Given the description of an element on the screen output the (x, y) to click on. 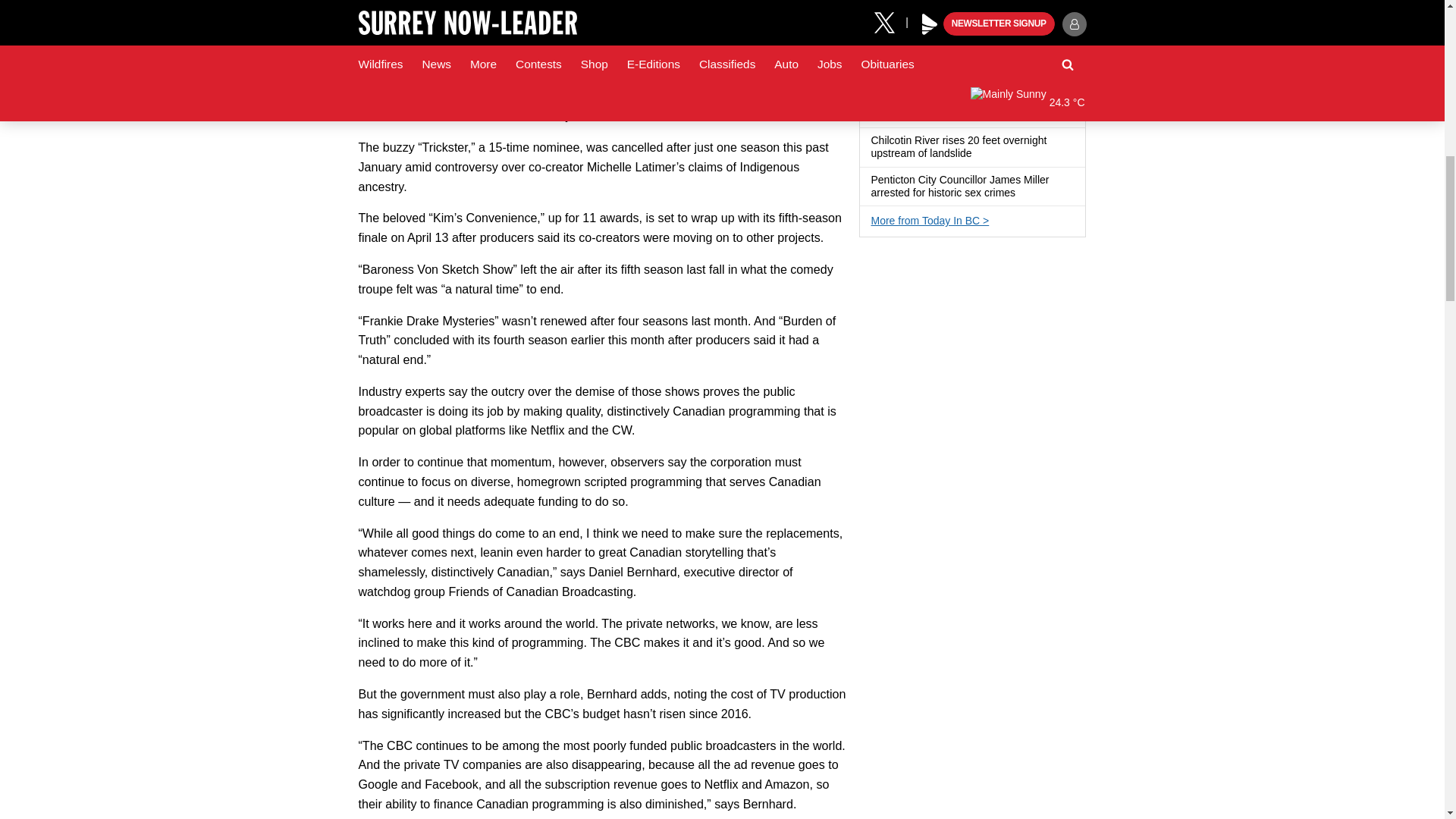
Has a gallery (980, 153)
